Given the description of an element on the screen output the (x, y) to click on. 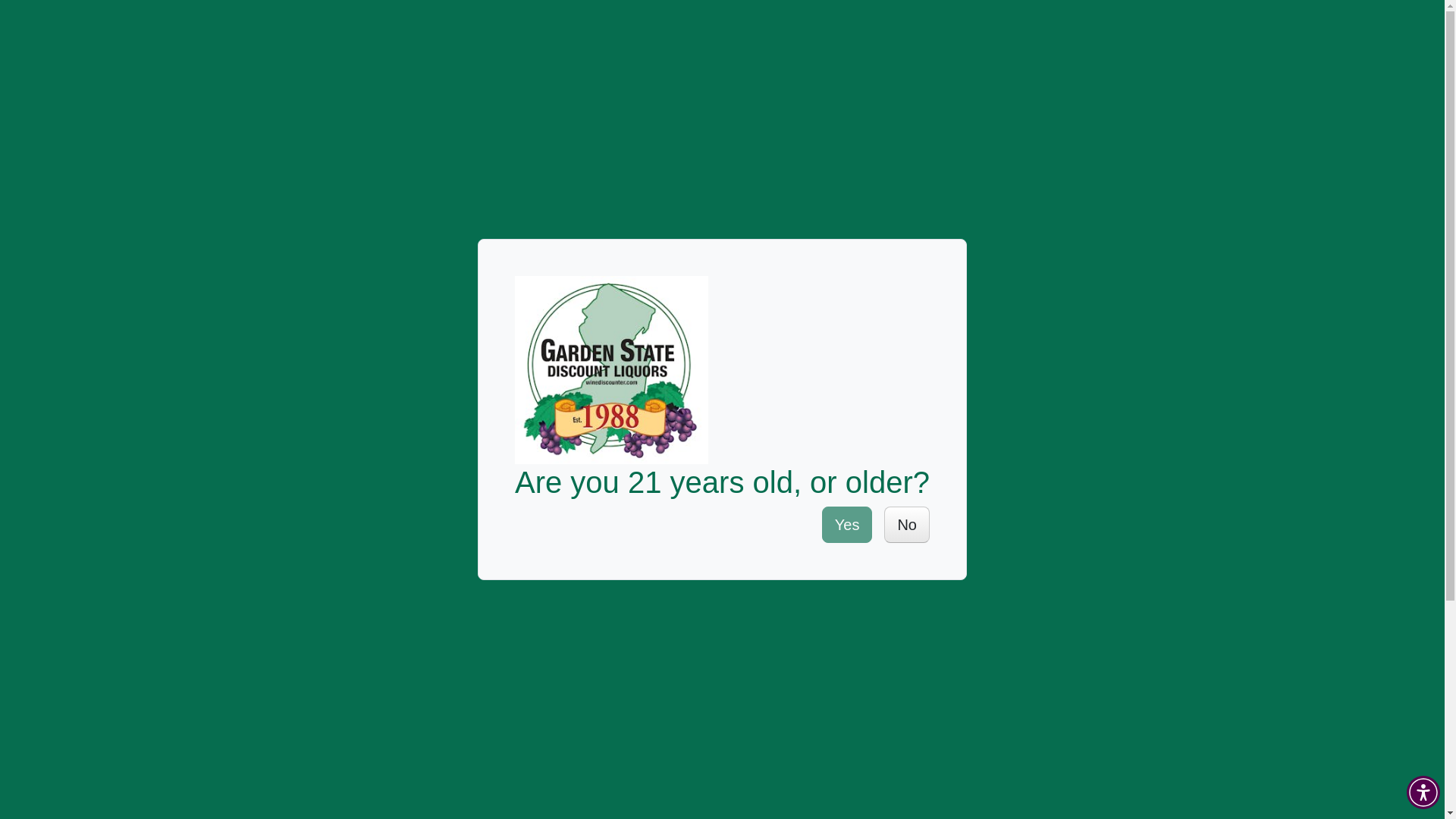
Pinterest (1139, 442)
MONTHLY AD (1374, 176)
Prepared Cocktails (440, 687)
DIRECTIONS (390, 118)
Email (1160, 442)
Twitter (1117, 442)
MY ACCOUNT (1243, 137)
Facebook (1096, 442)
Accessibility Menu (1422, 792)
MEET OUR STAFF (965, 176)
Monaco (410, 749)
Message (1202, 442)
732-442-9536 (391, 100)
Print (1181, 442)
Monaco (410, 718)
